Given the description of an element on the screen output the (x, y) to click on. 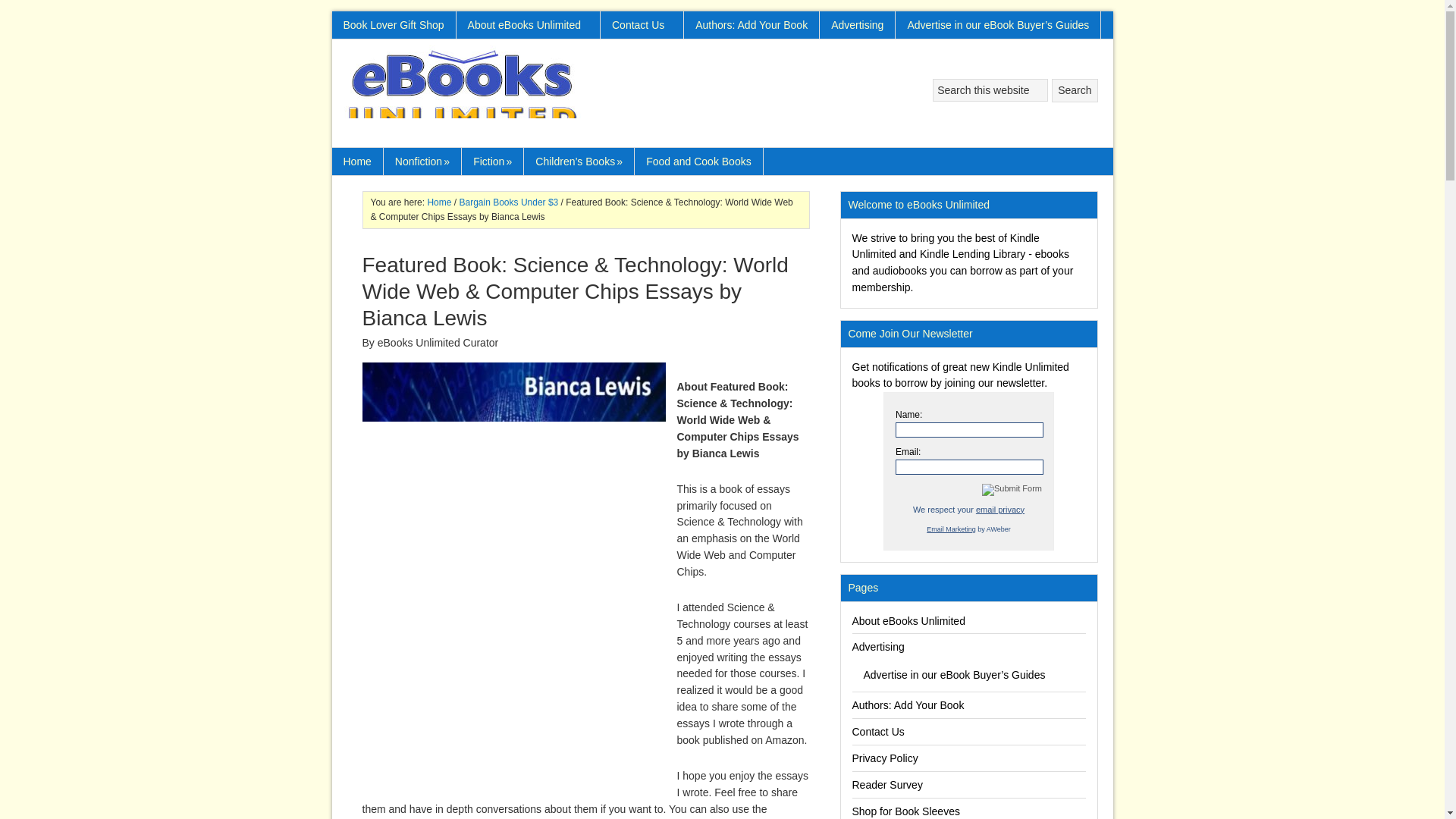
Search (1074, 90)
Home (438, 202)
Privacy Policy (1000, 509)
Food and Cook Books (698, 161)
Search (1074, 90)
About eBooks Unlimited (528, 24)
Email Marketing (950, 529)
Fiction (492, 161)
Book Lover Gift Shop (394, 24)
eBook Unlimited Network (463, 93)
